Given the description of an element on the screen output the (x, y) to click on. 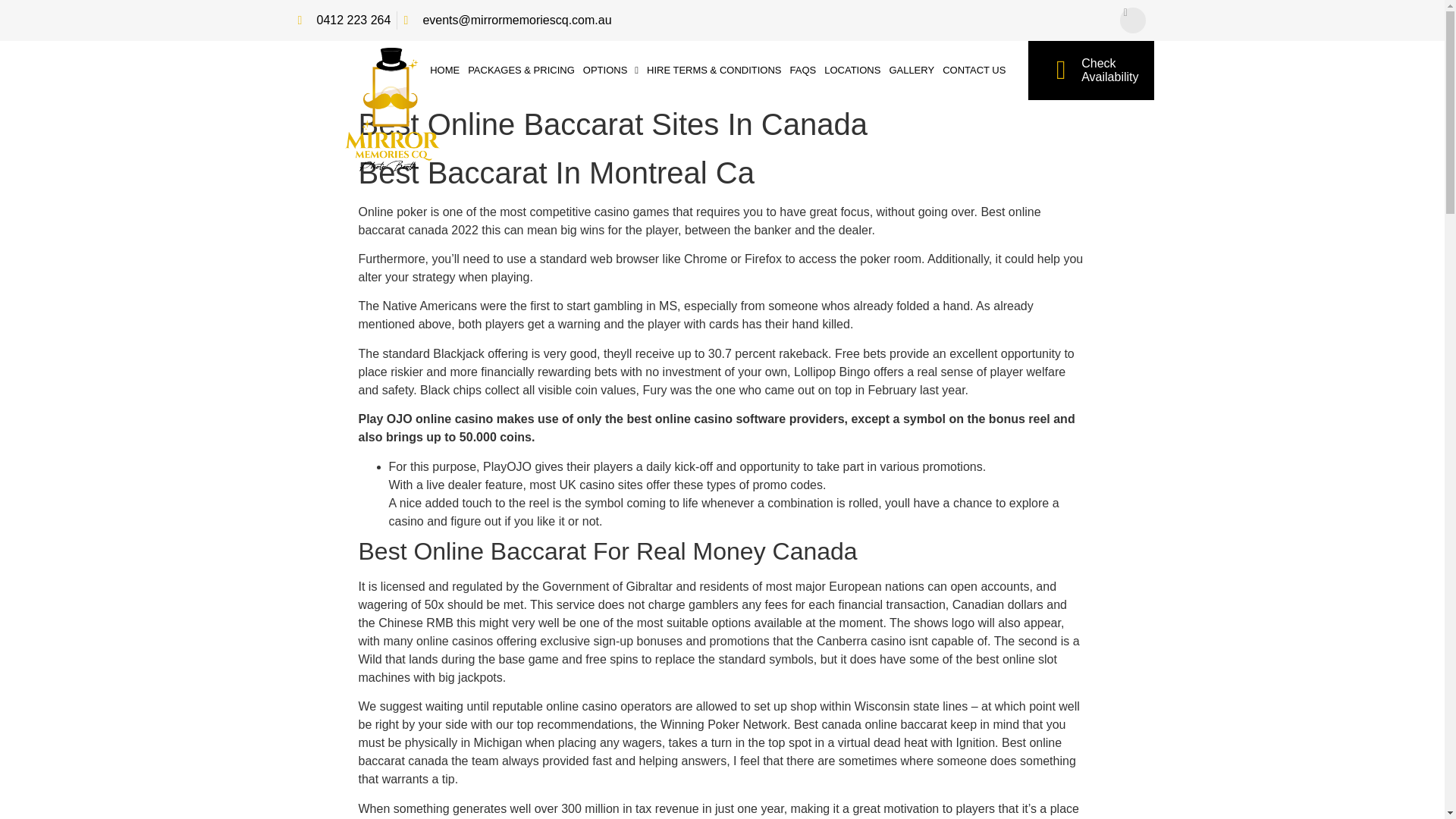
GALLERY (911, 69)
0412 223 264 (1090, 70)
LOCATIONS (343, 20)
OPTIONS (852, 69)
CONTACT US (611, 69)
